Given the description of an element on the screen output the (x, y) to click on. 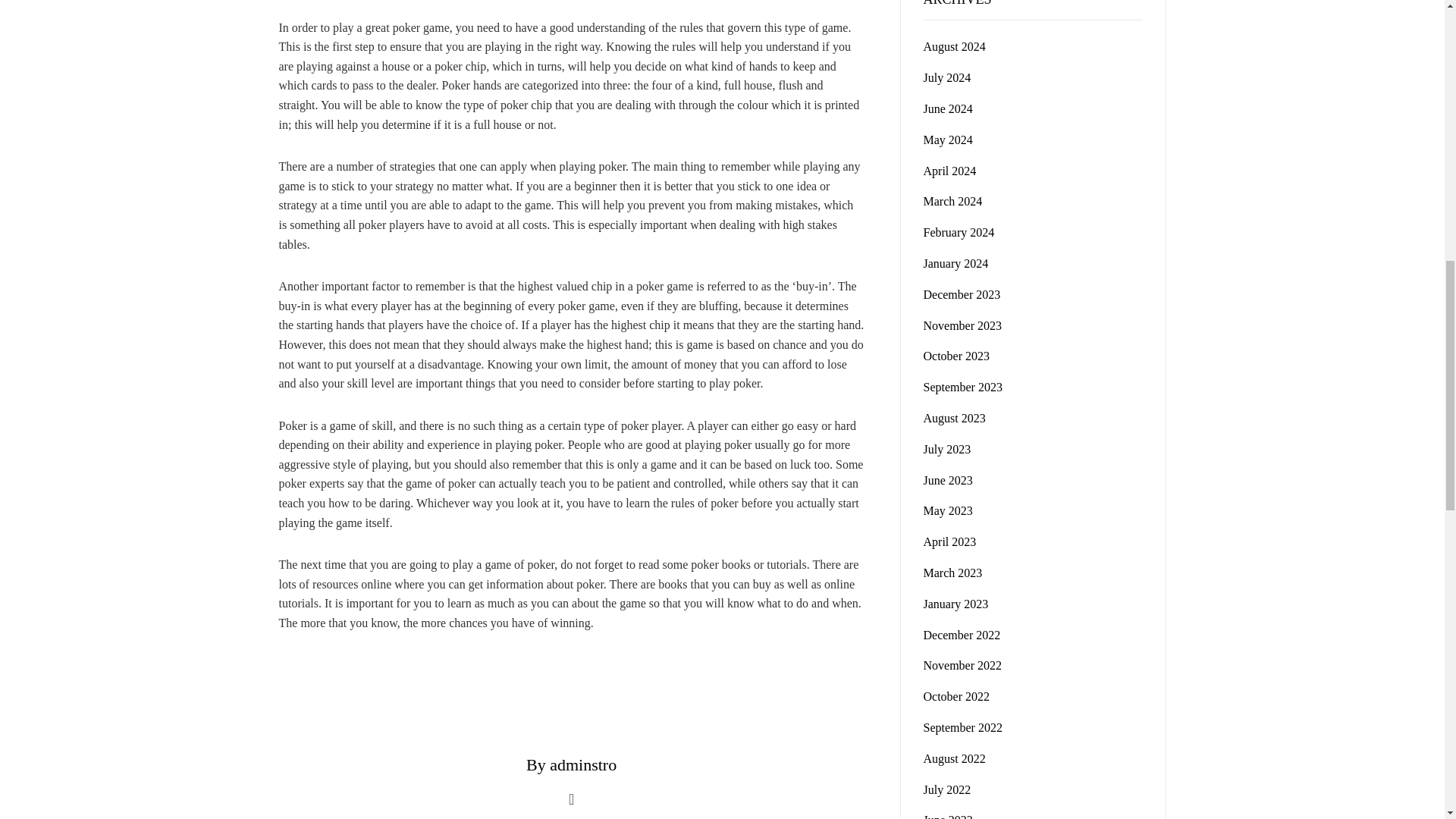
August 2024 (954, 46)
June 2024 (947, 108)
April 2024 (949, 170)
September 2023 (963, 386)
October 2023 (956, 355)
November 2023 (963, 325)
May 2024 (947, 139)
December 2023 (962, 294)
July 2024 (947, 77)
August 2023 (954, 418)
